Given the description of an element on the screen output the (x, y) to click on. 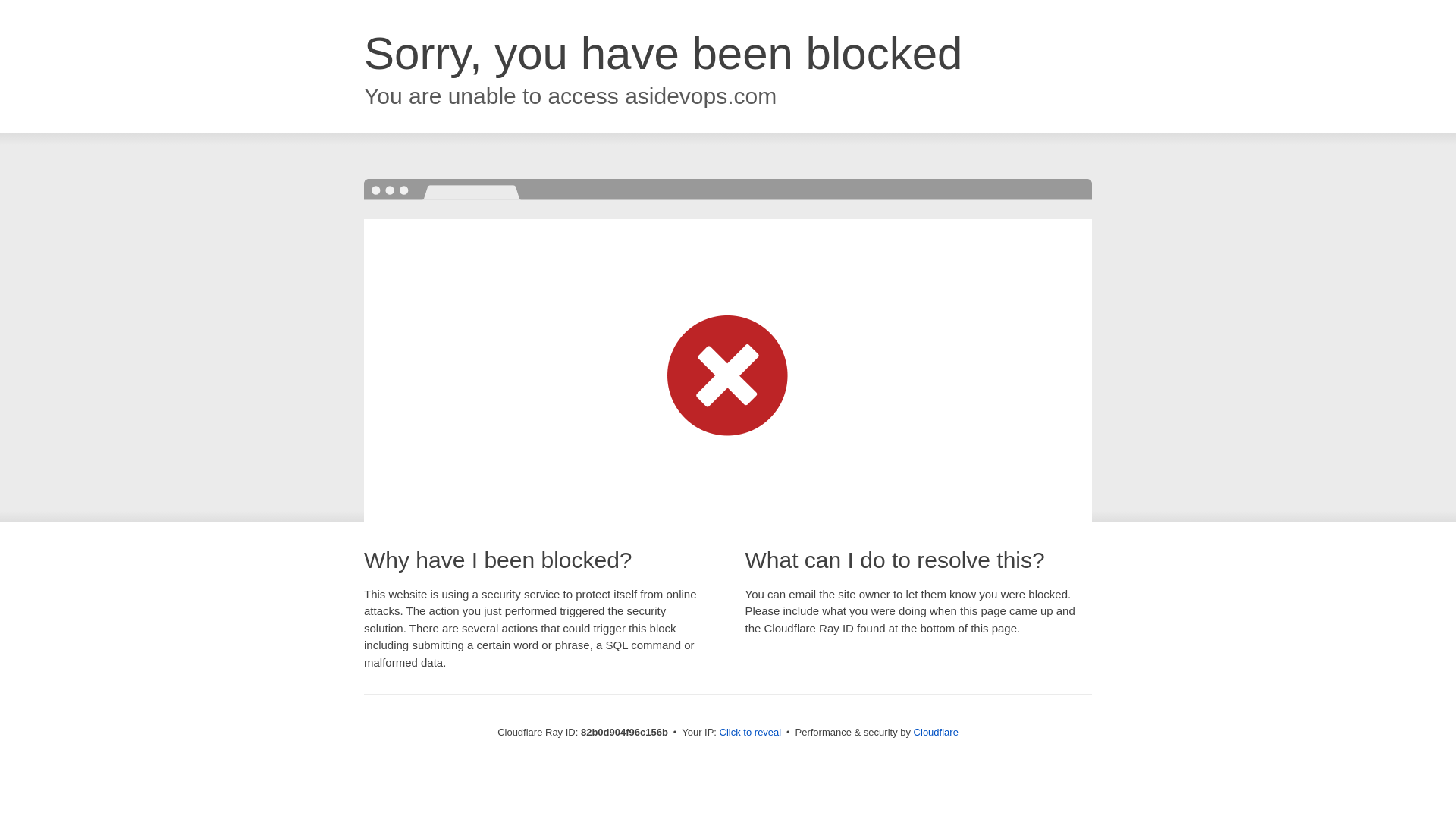
Cloudflare Element type: text (935, 731)
Click to reveal Element type: text (750, 732)
